Given the description of an element on the screen output the (x, y) to click on. 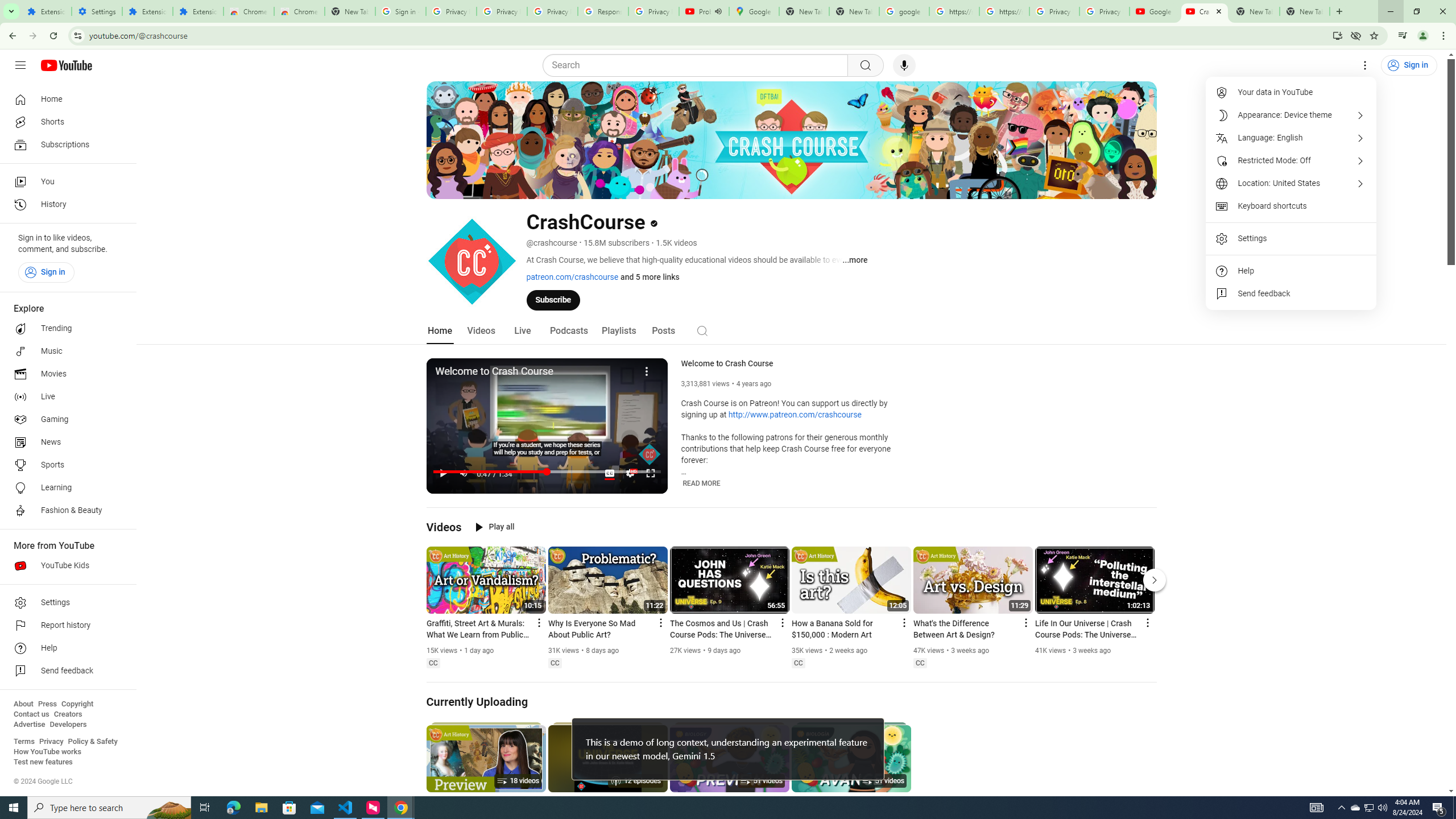
Play all (494, 526)
Extensions (146, 11)
Posts (663, 330)
Report history (64, 625)
Podcasts (568, 330)
Music (64, 350)
Sports (64, 464)
Guide (20, 65)
